Given the description of an element on the screen output the (x, y) to click on. 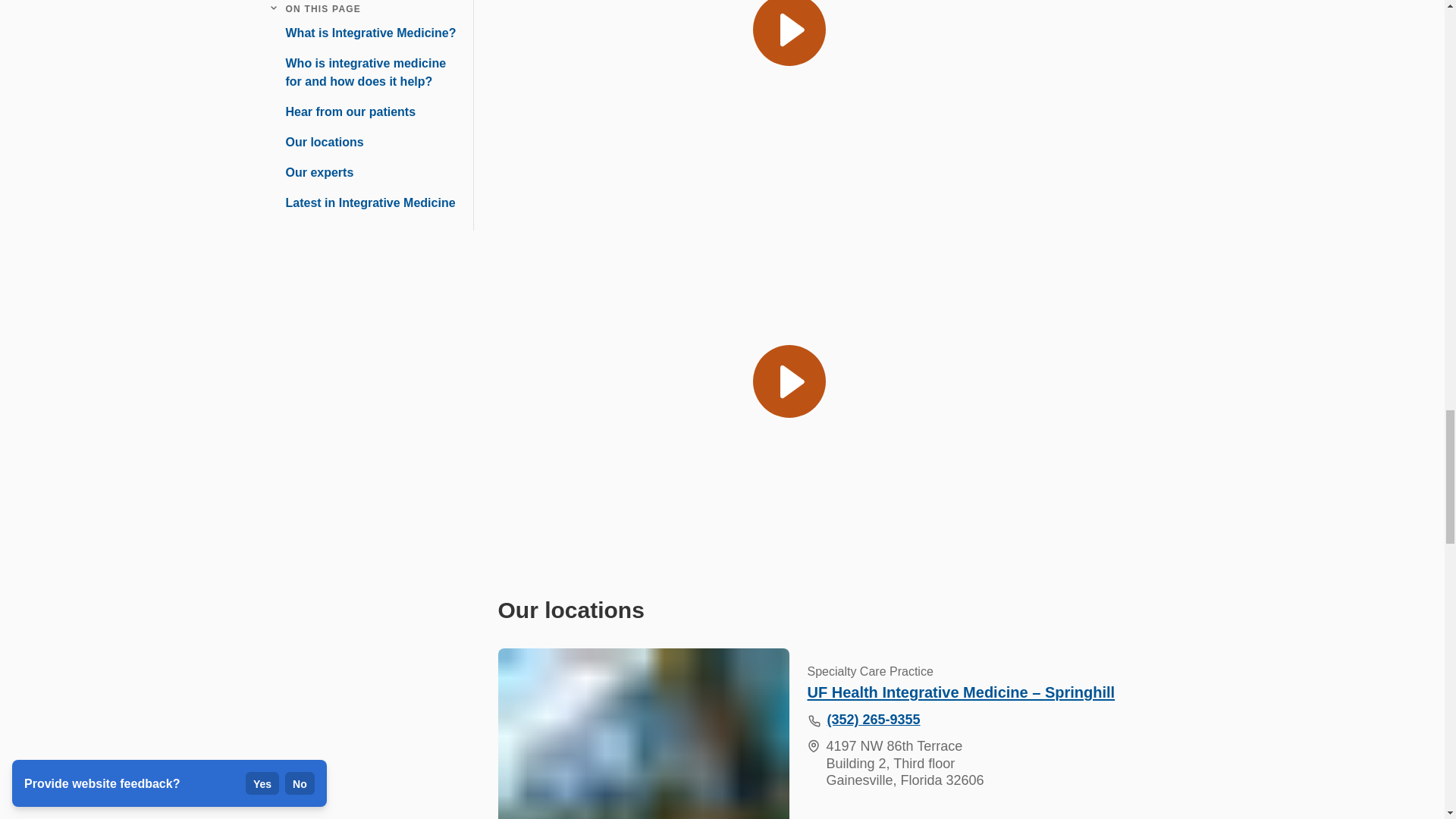
Play Video (788, 98)
